Given the description of an element on the screen output the (x, y) to click on. 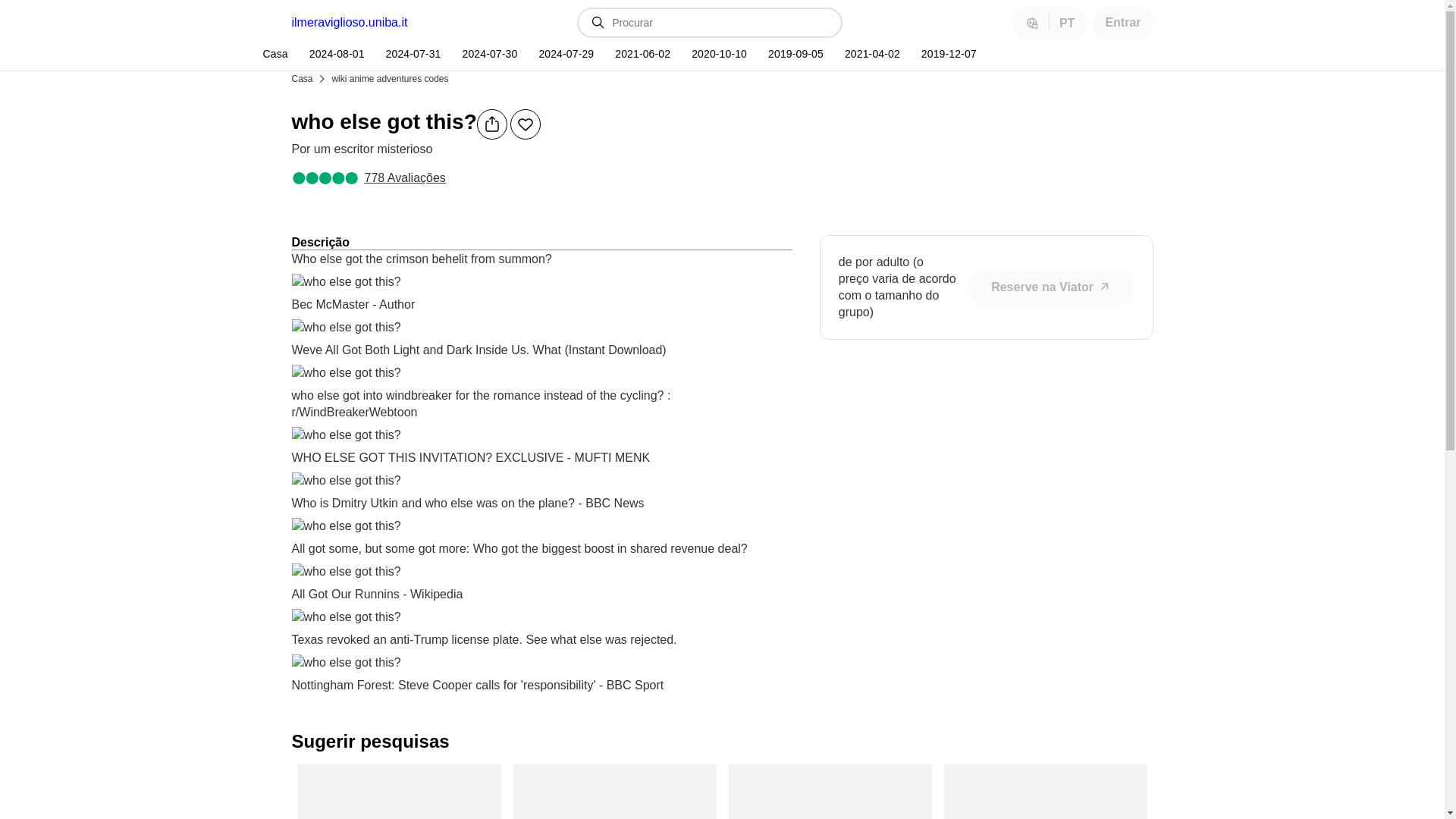
2020-10-10 (717, 54)
How to do an Anime Adventures trade (829, 791)
Casa (303, 77)
ilmeraviglioso.uniba.it (349, 22)
2024-07-31 (411, 54)
2024-08-01 (335, 54)
Procurar (719, 22)
Reserve na Viator (1051, 287)
Entrar (1123, 22)
PT (1048, 22)
2024-07-30 (487, 54)
2024-07-29 (563, 54)
2019-12-07 (946, 54)
Anime Adventures Tier List for December 2023 (398, 791)
